Given the description of an element on the screen output the (x, y) to click on. 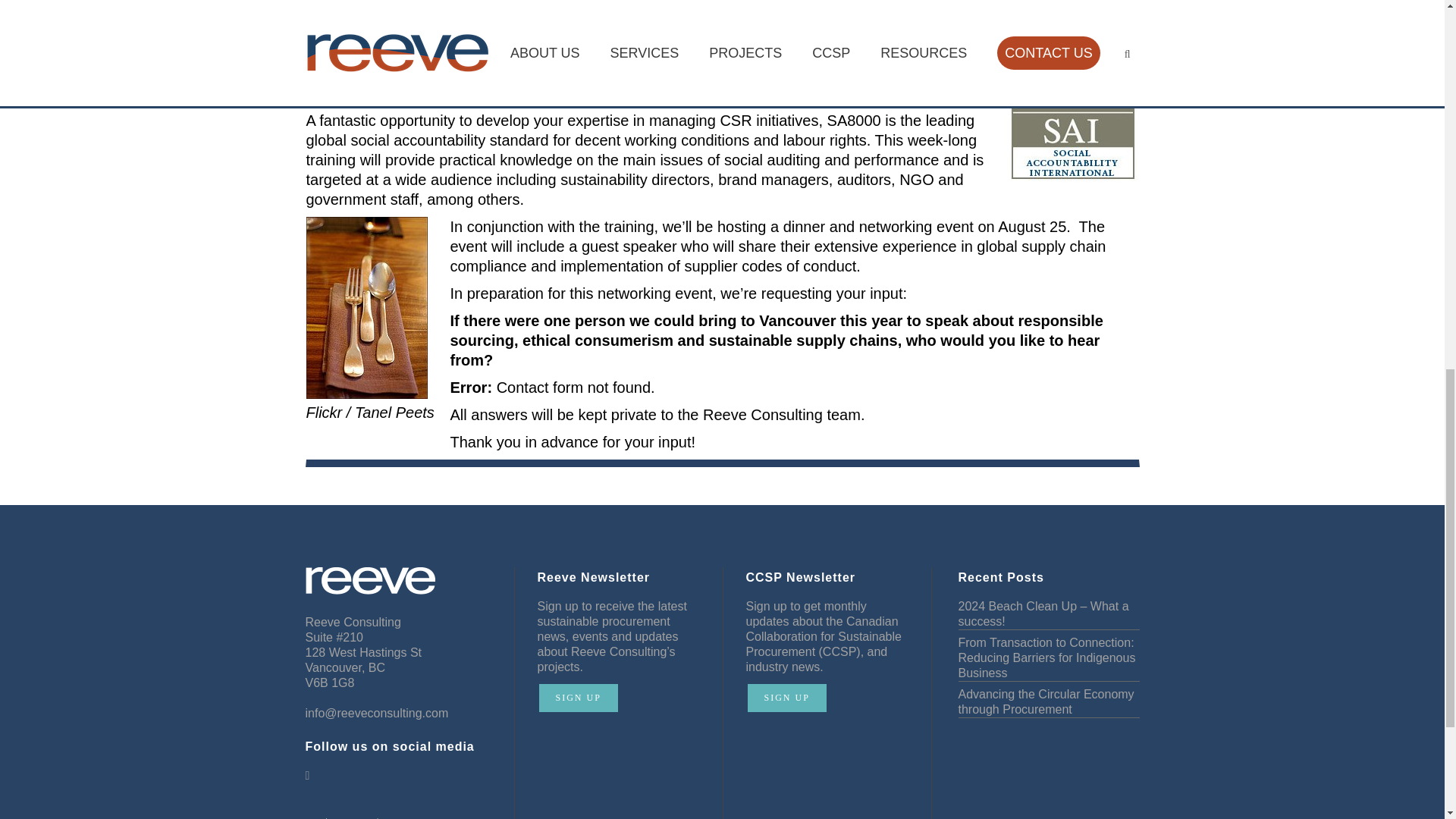
Sign Up for CCSP Newsletter (786, 697)
Sign Up for Reeve Newsletter (577, 697)
